Given the description of an element on the screen output the (x, y) to click on. 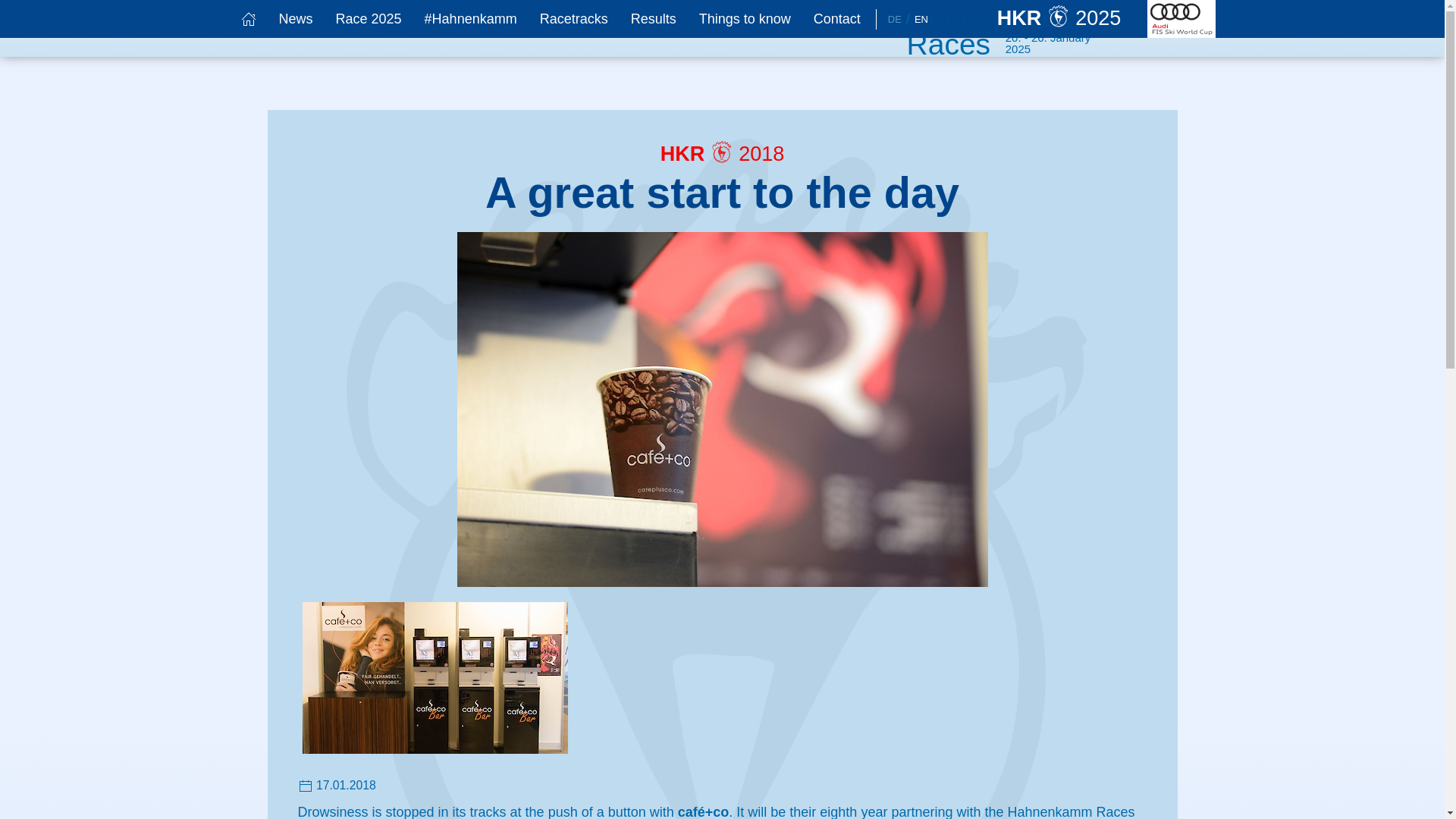
Race 2025 (368, 18)
News (294, 18)
Home (247, 18)
News (294, 18)
EN (921, 19)
Racetracks (574, 18)
Home (1072, 18)
Racetracks (574, 18)
Contact (837, 18)
Results (653, 18)
Contact (837, 18)
Race 2025 (368, 18)
Things to know (744, 18)
Things to know (744, 18)
DE (894, 19)
